Given the description of an element on the screen output the (x, y) to click on. 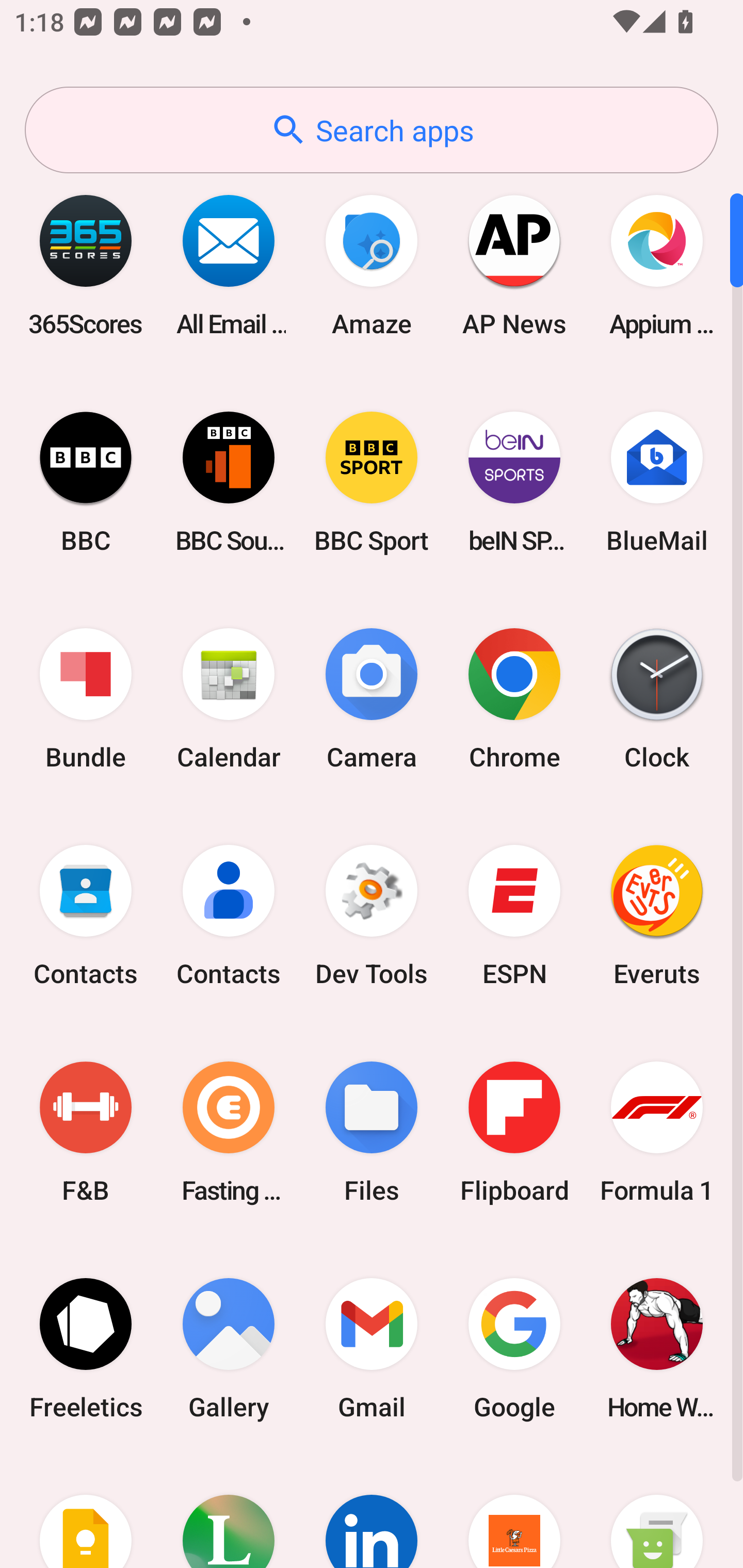
  Search apps (371, 130)
365Scores (85, 264)
All Email Connect (228, 264)
Amaze (371, 264)
AP News (514, 264)
Appium Settings (656, 264)
BBC (85, 482)
BBC Sounds (228, 482)
BBC Sport (371, 482)
beIN SPORTS (514, 482)
BlueMail (656, 482)
Bundle (85, 699)
Calendar (228, 699)
Camera (371, 699)
Chrome (514, 699)
Clock (656, 699)
Contacts (85, 915)
Contacts (228, 915)
Dev Tools (371, 915)
ESPN (514, 915)
Everuts (656, 915)
F&B (85, 1131)
Fasting Coach (228, 1131)
Files (371, 1131)
Flipboard (514, 1131)
Formula 1 (656, 1131)
Freeletics (85, 1348)
Gallery (228, 1348)
Gmail (371, 1348)
Google (514, 1348)
Home Workout (656, 1348)
Keep Notes (85, 1512)
Lifesum (228, 1512)
LinkedIn (371, 1512)
Little Caesars Pizza (514, 1512)
Messaging (656, 1512)
